Given the description of an element on the screen output the (x, y) to click on. 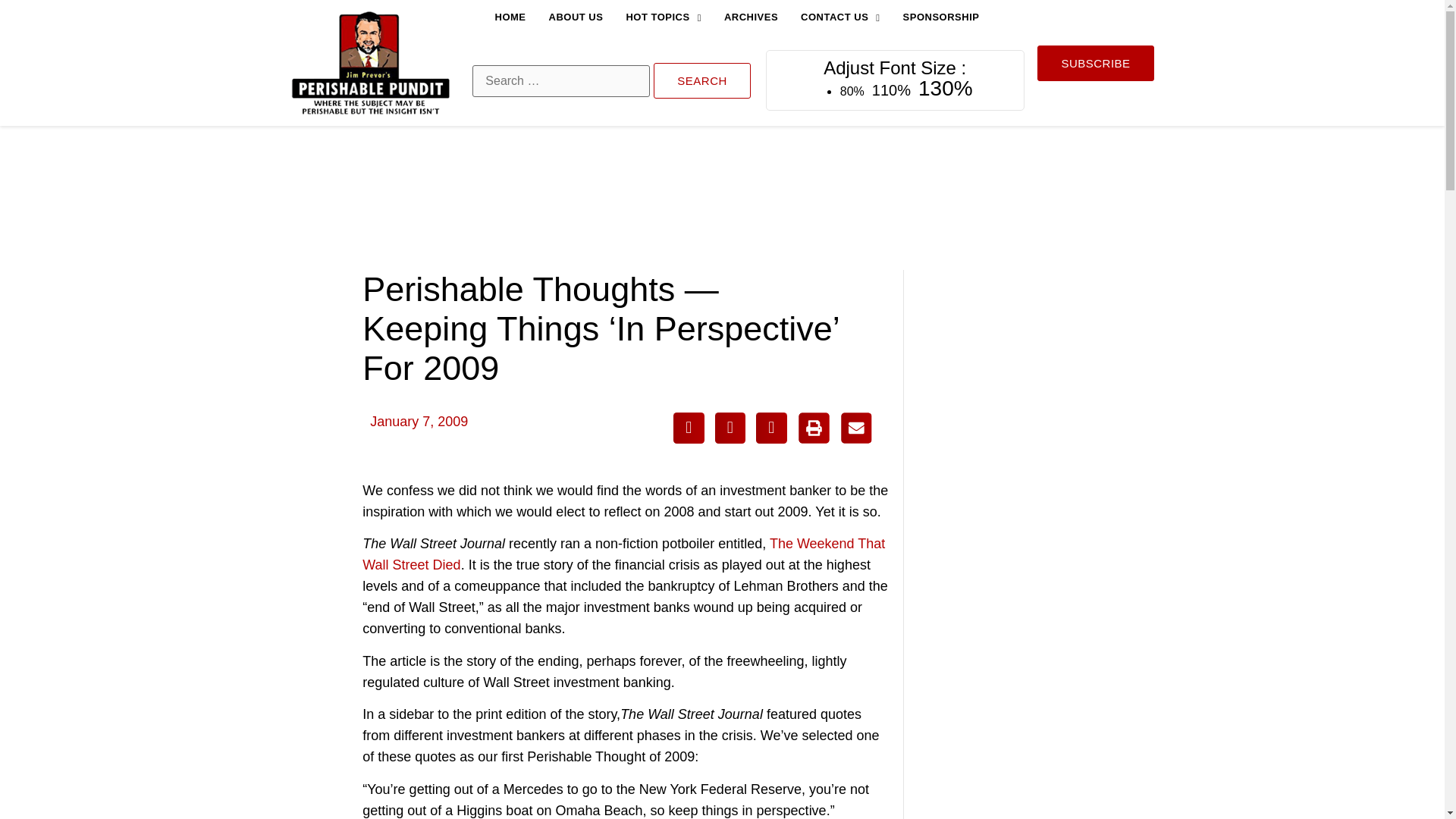
Search (702, 79)
ABOUT US (576, 17)
CONTACT US (840, 17)
3rd party ad content (1040, 371)
ARCHIVES (750, 17)
HOT TOPICS (663, 17)
HOME (510, 17)
3rd party ad content (721, 197)
Search (702, 79)
SPONSORSHIP (940, 17)
